Given the description of an element on the screen output the (x, y) to click on. 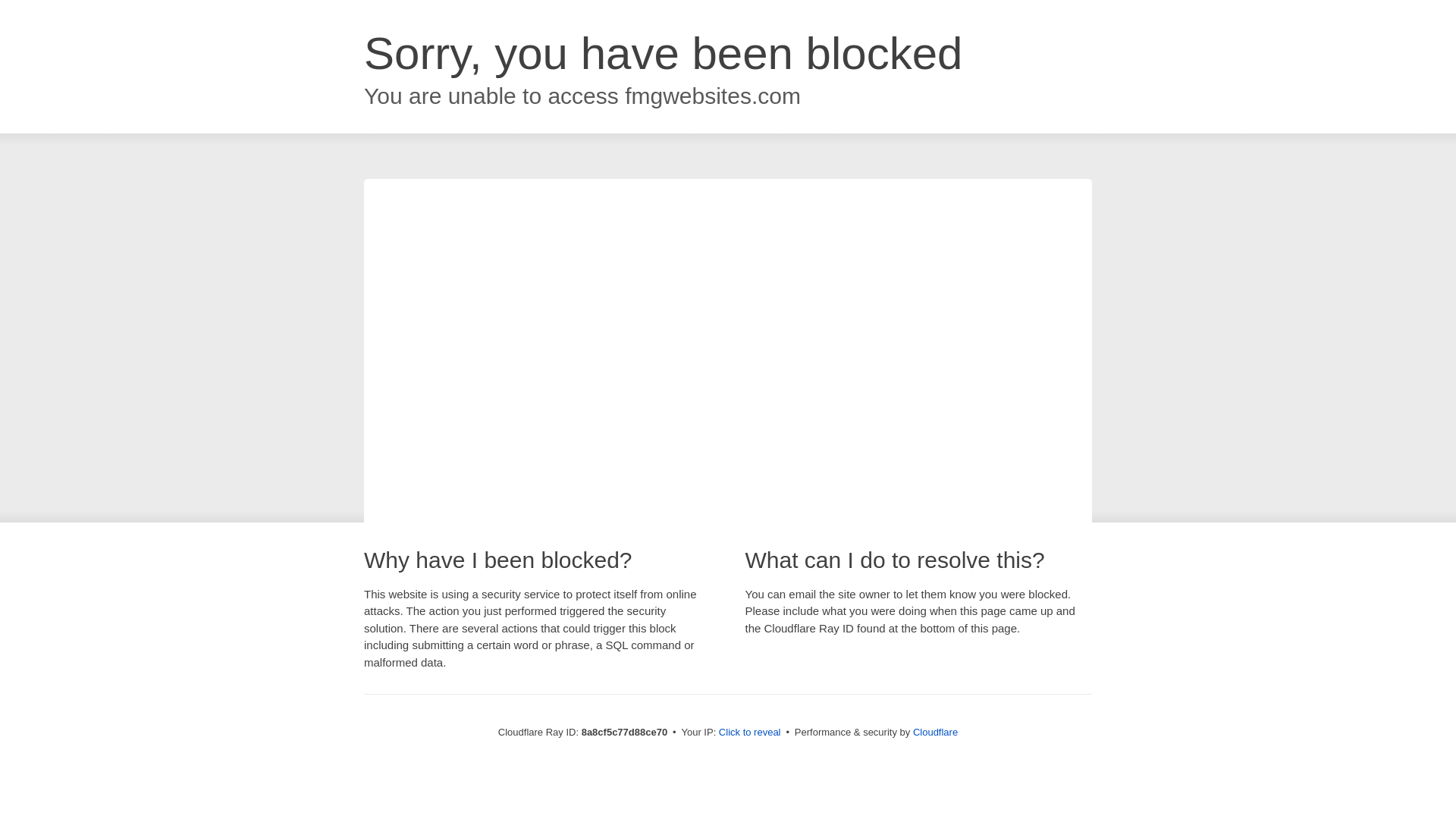
Cloudflare (935, 731)
Click to reveal (749, 732)
